Given the description of an element on the screen output the (x, y) to click on. 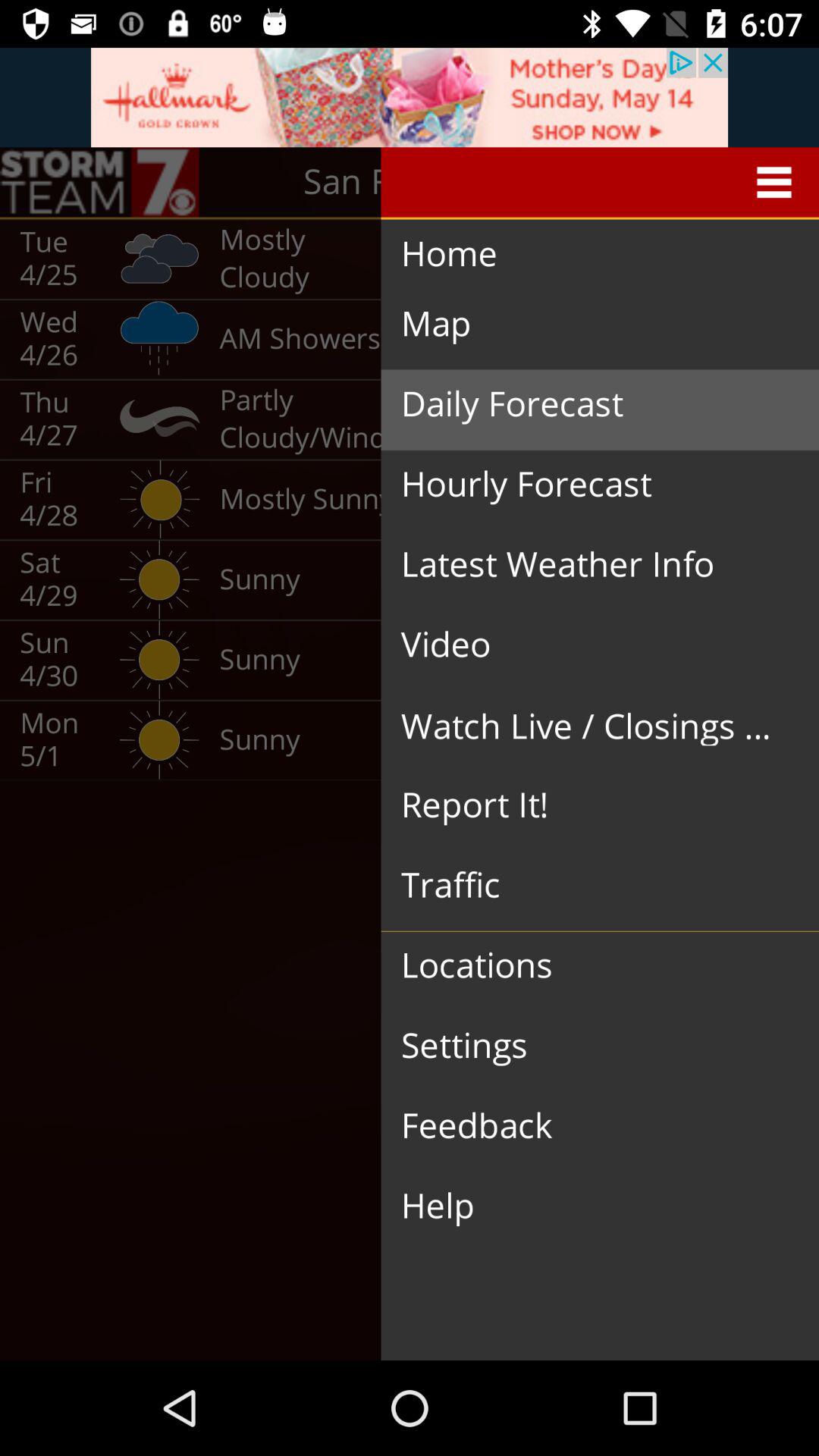
turn off the icon to the right of am showers (587, 404)
